Given the description of an element on the screen output the (x, y) to click on. 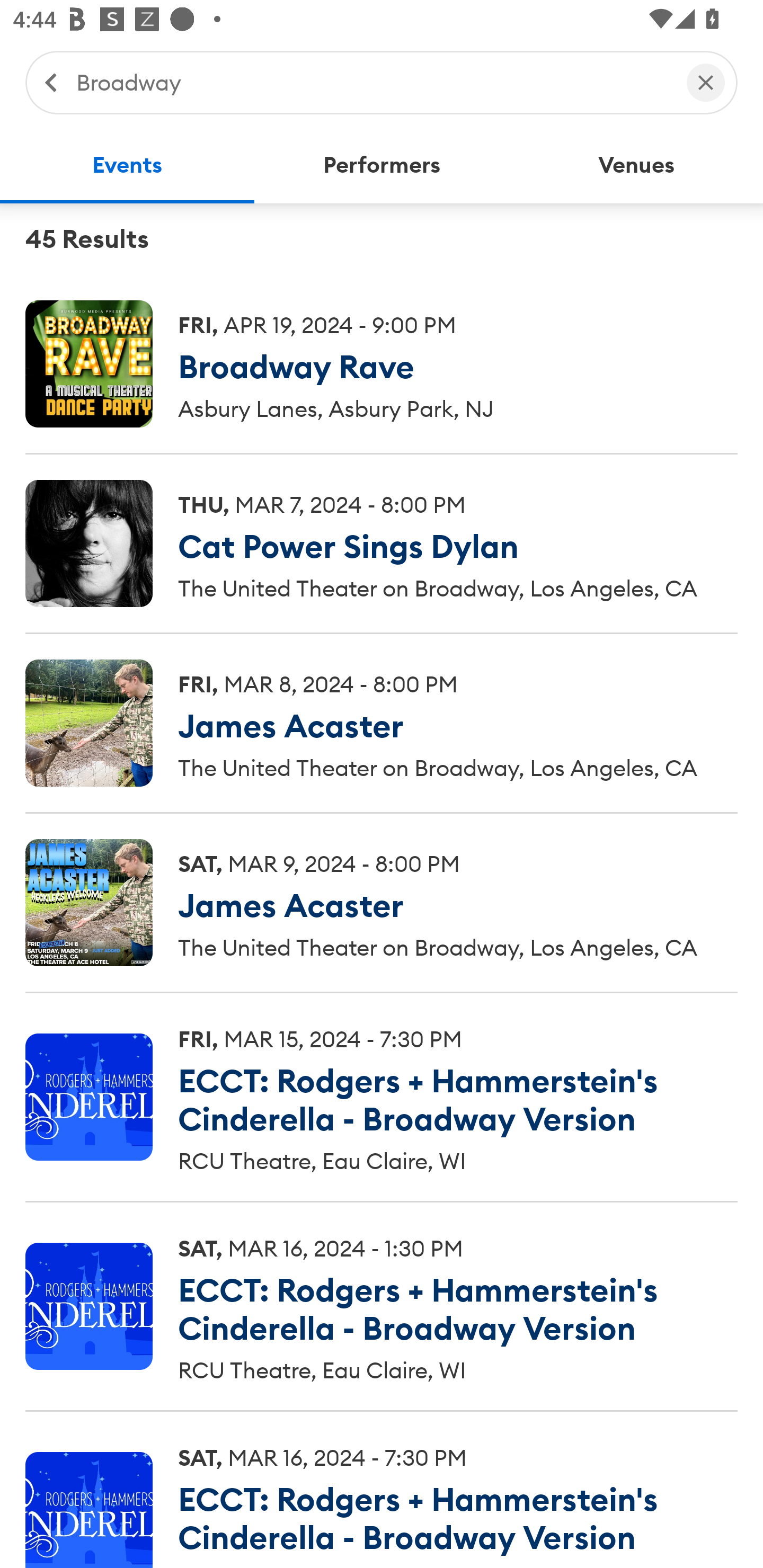
Broadway (371, 81)
Clear Search (705, 81)
Performers (381, 165)
Venues (635, 165)
